Given the description of an element on the screen output the (x, y) to click on. 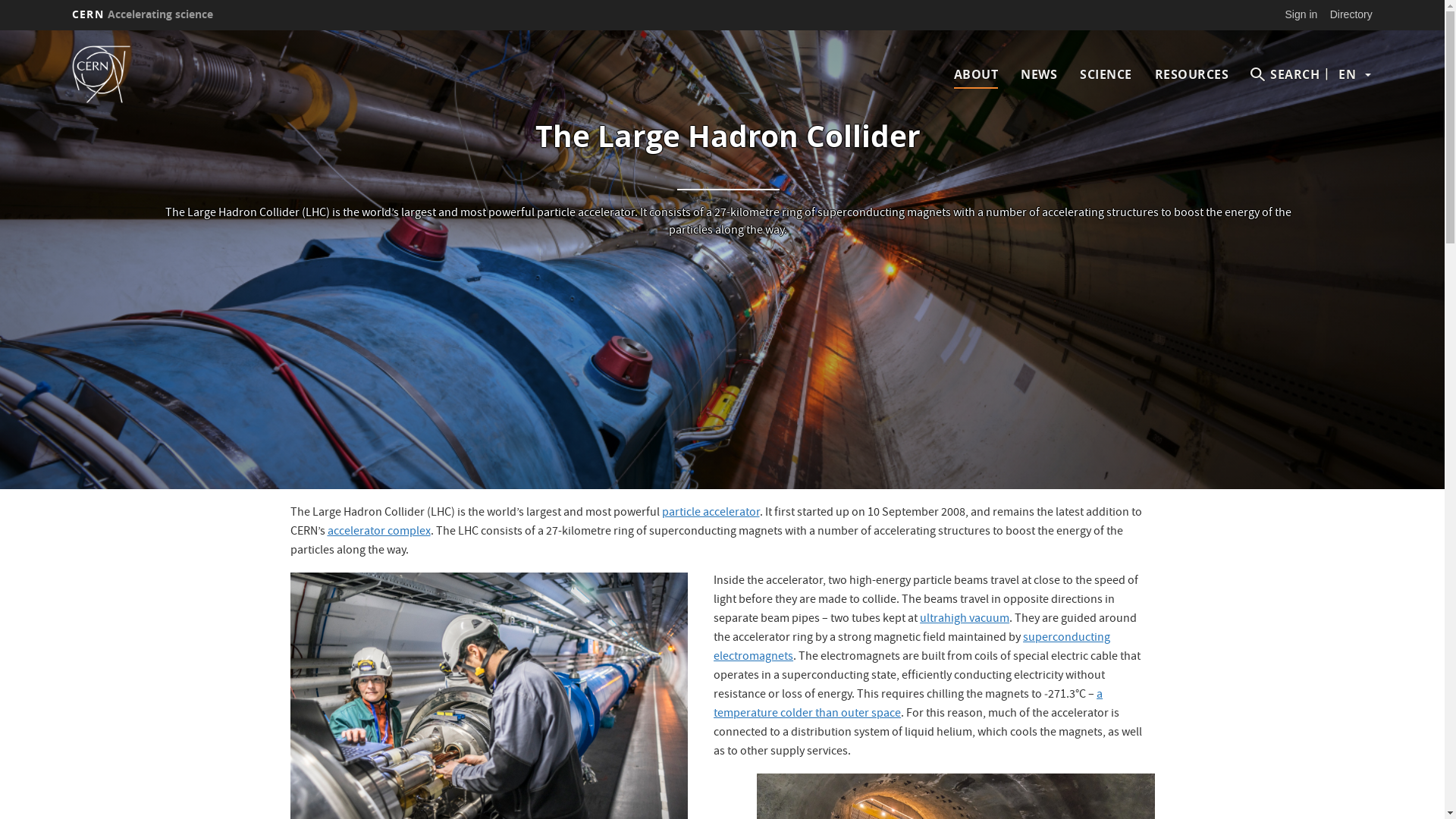
Sign in Element type: text (1301, 14)
Directory Element type: text (1351, 14)
NEWS Element type: text (1038, 74)
RESOURCES Element type: text (1191, 74)
CERN Accelerating science Element type: text (142, 14)
a temperature colder than outer space Element type: text (907, 704)
SCIENCE Element type: text (1105, 74)
Home Element type: hover (122, 74)
accelerator complex Element type: text (378, 532)
superconducting electromagnets Element type: text (911, 647)
Skip to main content Element type: text (0, 30)
|
EN Element type: text (1346, 74)
particle accelerator Element type: text (710, 513)
ultrahigh vacuum Element type: text (964, 619)
SEARCH Element type: text (1285, 74)
ABOUT Element type: text (975, 74)
